Given the description of an element on the screen output the (x, y) to click on. 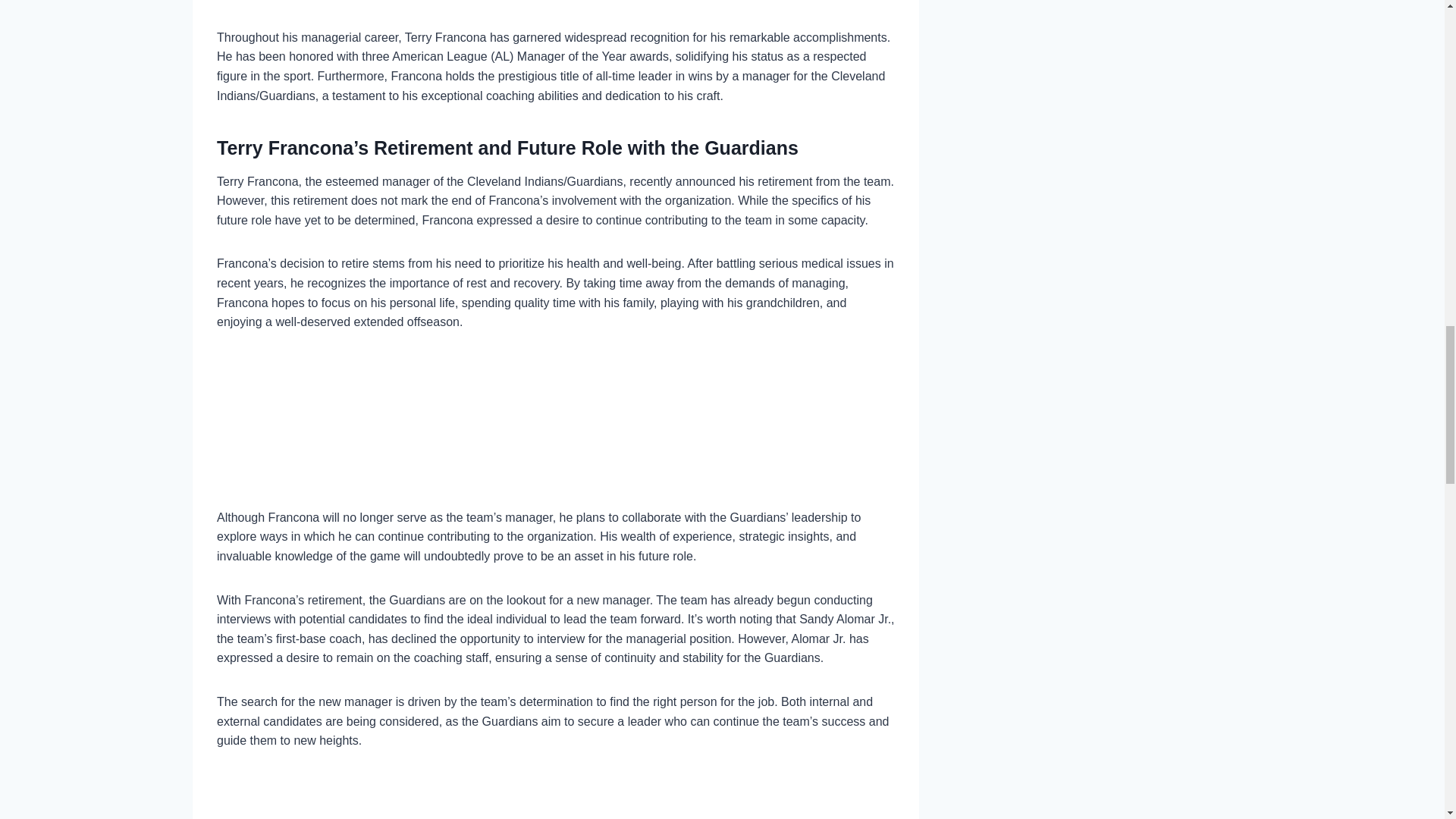
Advertisement (555, 431)
Advertisement (555, 13)
Advertisement (555, 796)
